Given the description of an element on the screen output the (x, y) to click on. 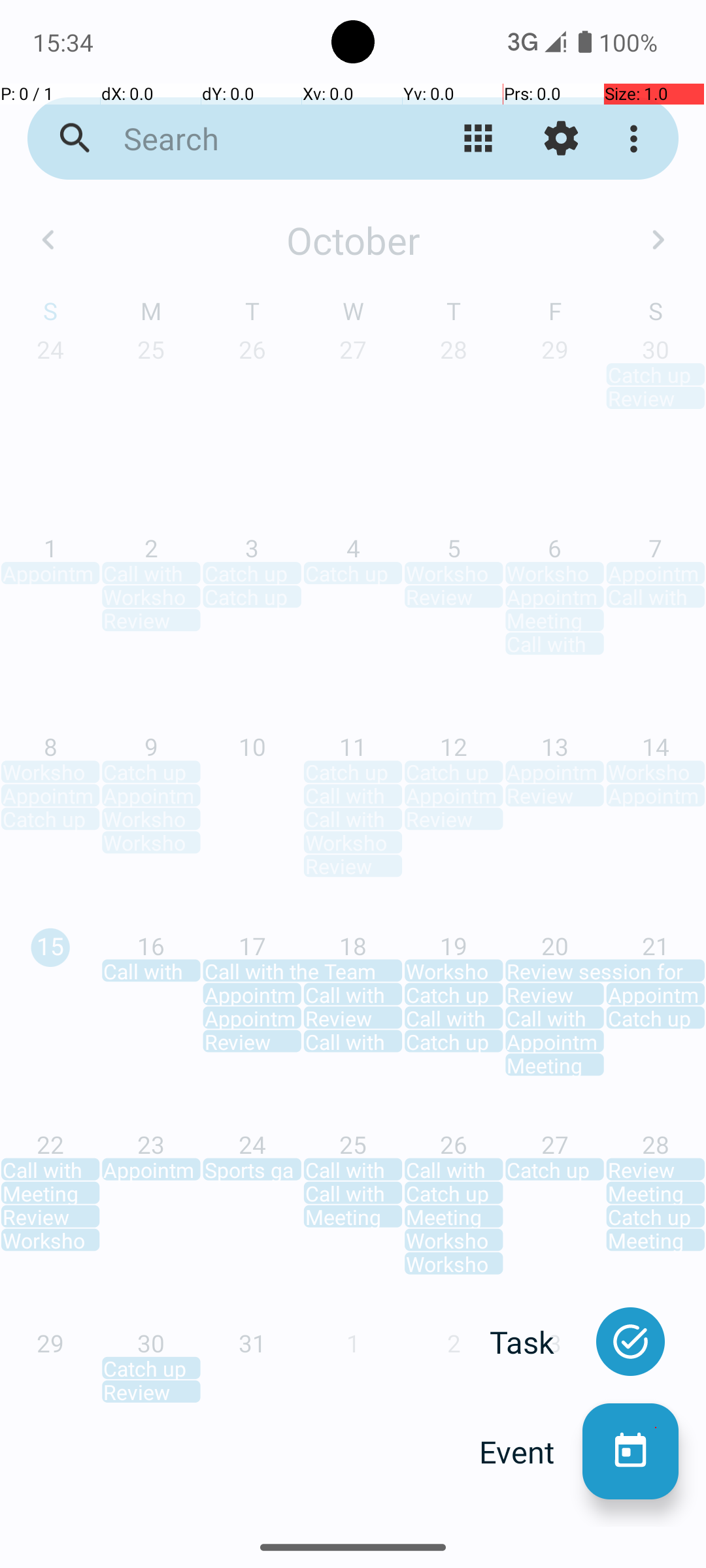
Task Element type: android.widget.TextView (535, 1341)
Event Element type: android.widget.TextView (530, 1451)
